Given the description of an element on the screen output the (x, y) to click on. 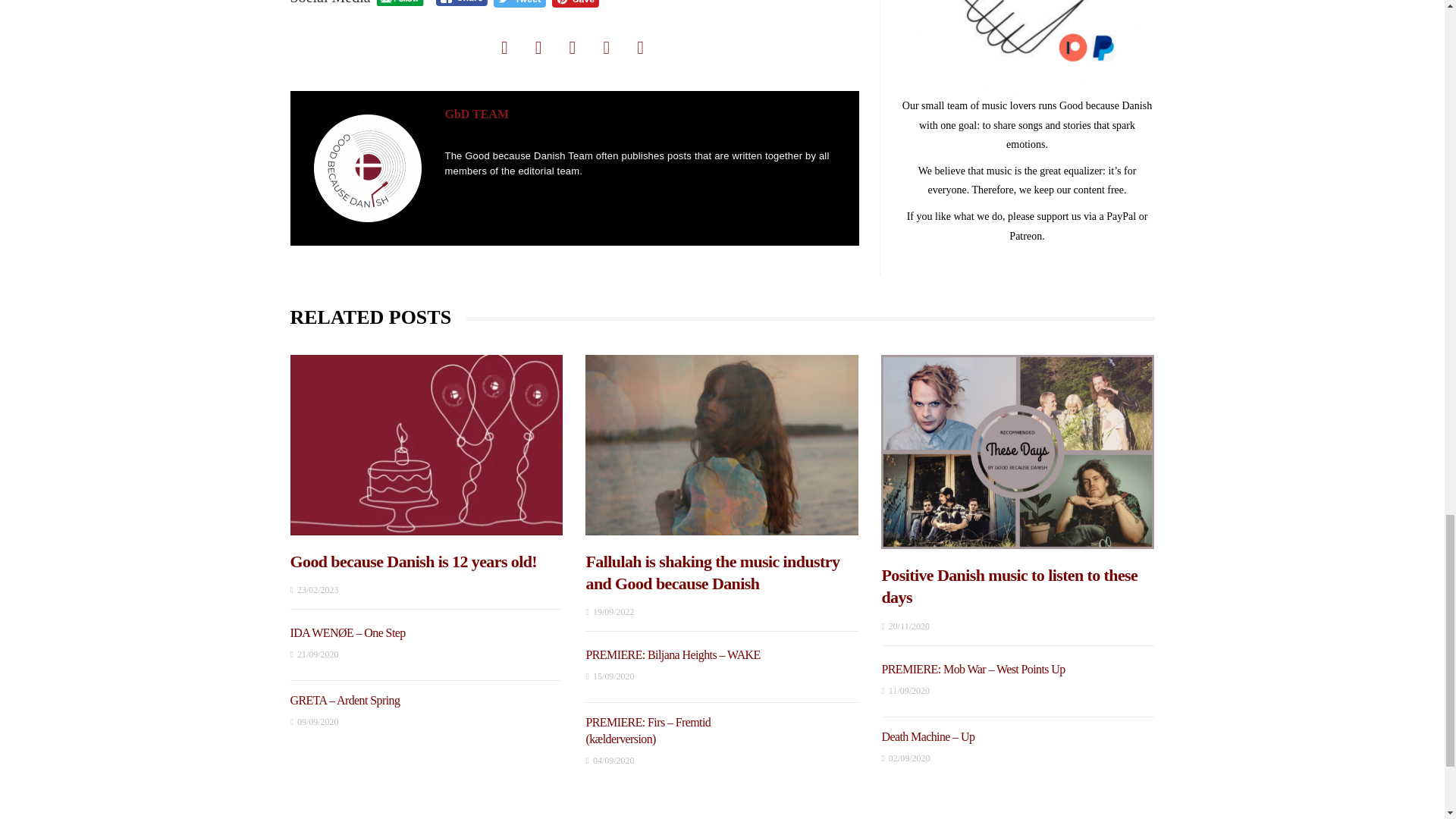
Pin Share (574, 3)
Tweet (519, 3)
Facebook Share (461, 2)
